Given the description of an element on the screen output the (x, y) to click on. 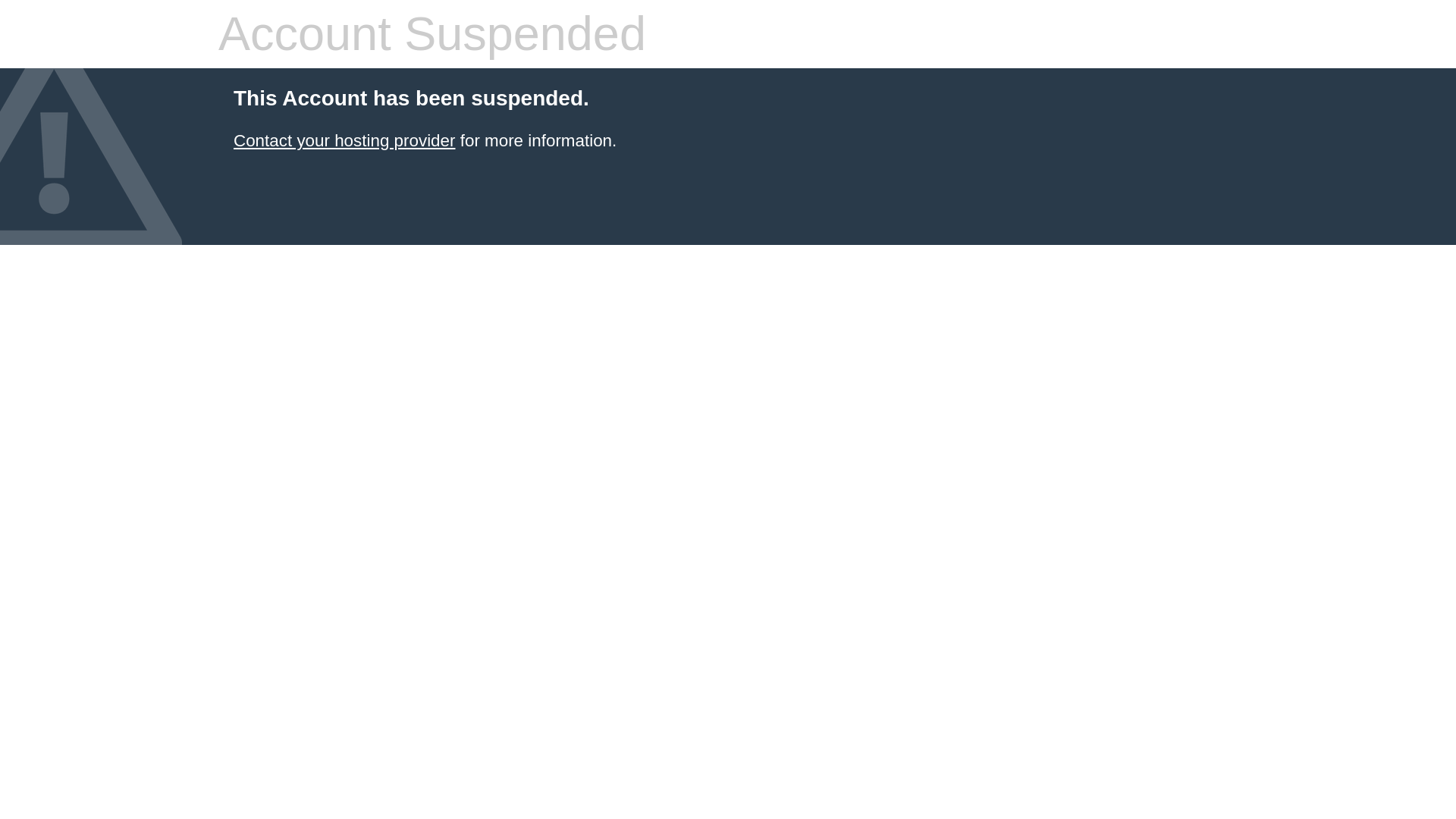
Contact your hosting provider (343, 140)
